Given the description of an element on the screen output the (x, y) to click on. 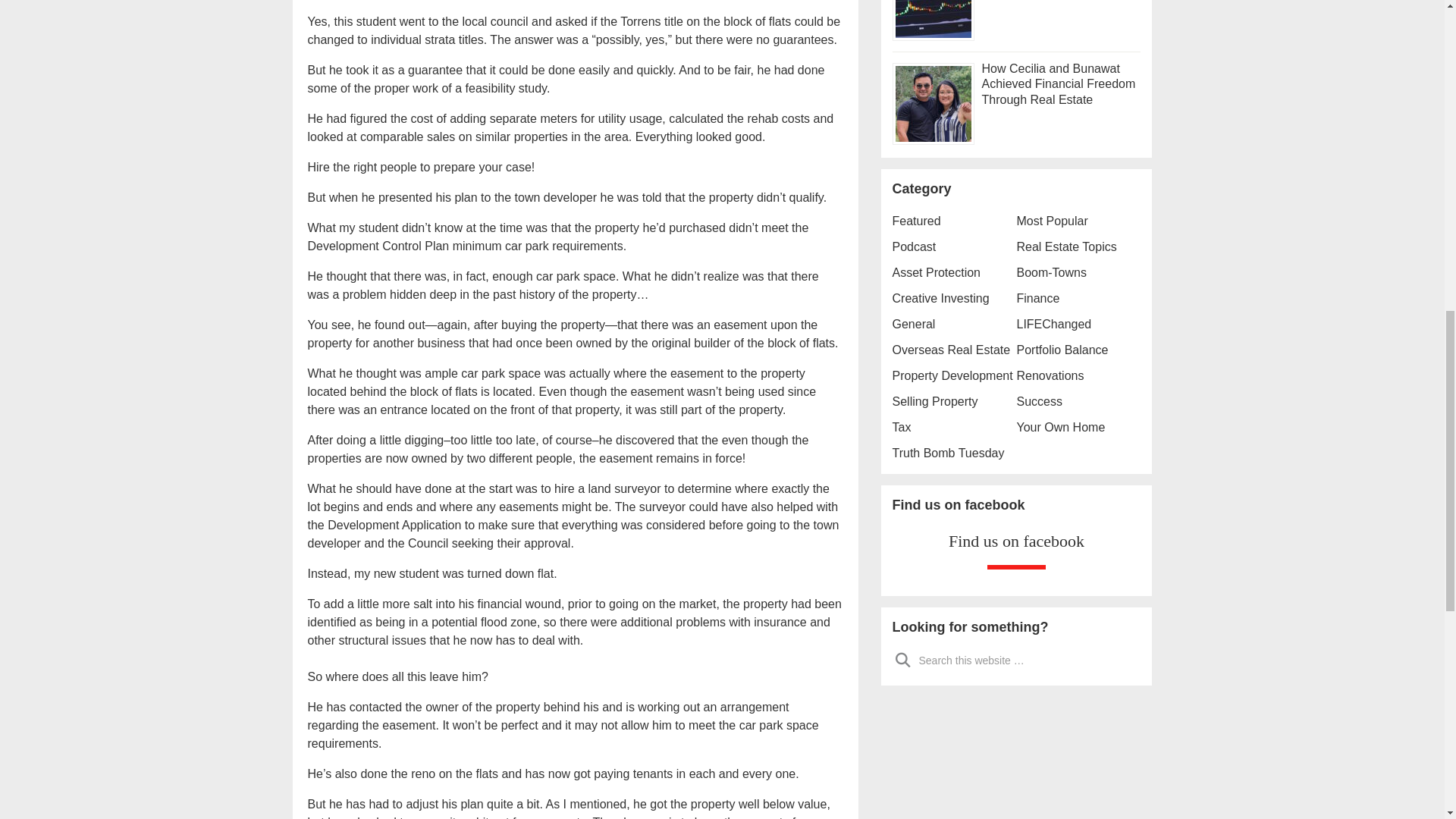
Podcast (913, 245)
Featured (915, 219)
Real Estate Topics (1066, 245)
Asset Protection (935, 271)
Most Popular (1051, 219)
Search (902, 658)
